Given the description of an element on the screen output the (x, y) to click on. 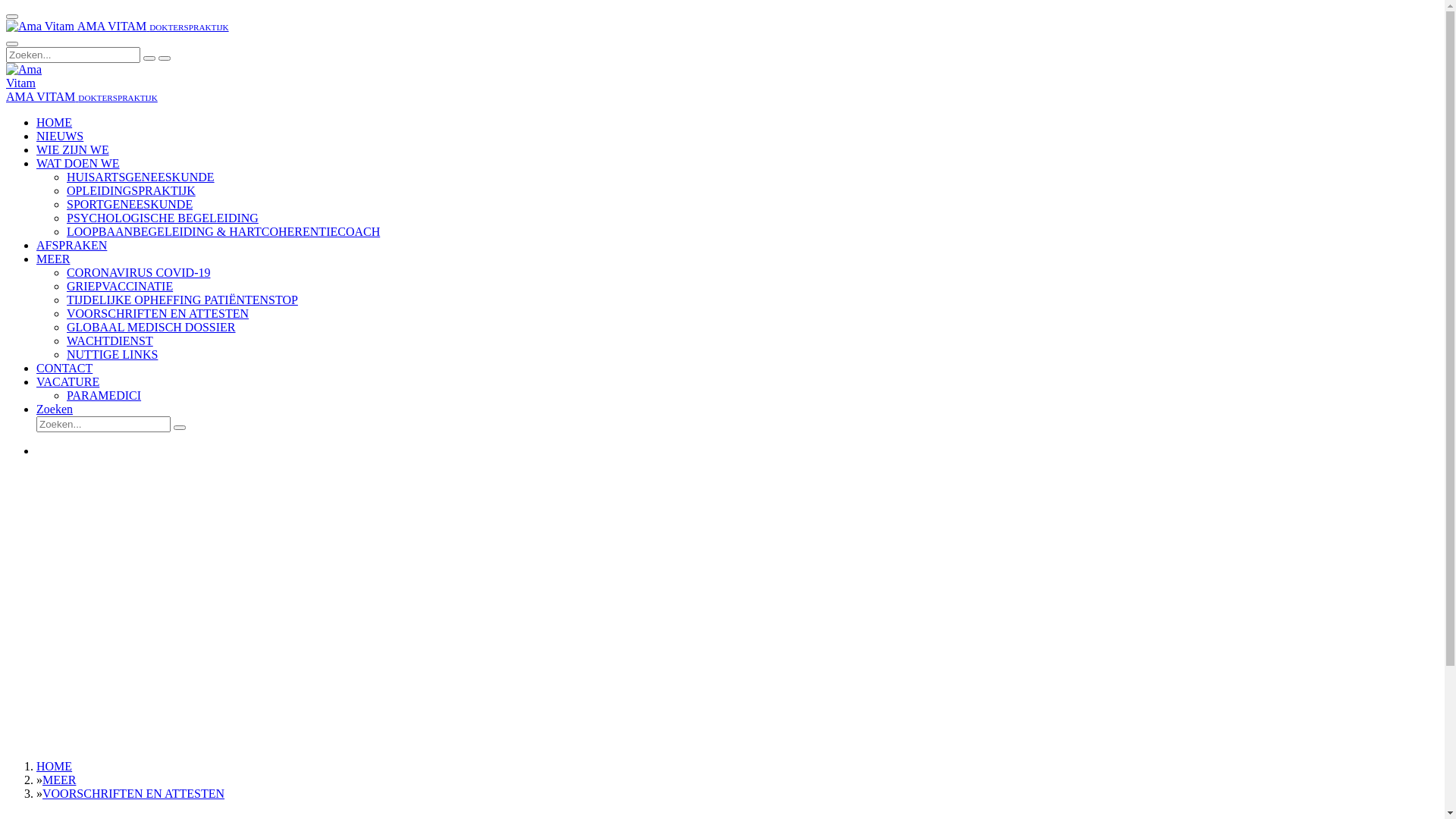
WACHTDIENST Element type: text (109, 340)
AFSPRAKEN Element type: text (71, 244)
AMA VITAM DOKTERSPRAKTIJK Element type: text (117, 25)
HUISARTSGENEESKUNDE Element type: text (140, 176)
AMA VITAM DOKTERSPRAKTIJK Element type: text (81, 96)
CONTACT Element type: text (64, 367)
NIEUWS Element type: text (59, 135)
GLOBAAL MEDISCH DOSSIER Element type: text (150, 326)
SPORTGENEESKUNDE Element type: text (129, 203)
PSYCHOLOGISCHE BEGELEIDING Element type: text (162, 217)
Zoeken Element type: text (54, 408)
HOME Element type: text (54, 765)
CORONAVIRUS COVID-19 Element type: text (138, 272)
VACATURE Element type: text (67, 381)
WAT DOEN WE Element type: text (77, 162)
HOME Element type: text (54, 122)
Ama Vitam Element type: hover (32, 76)
OPLEIDINGSPRAKTIJK Element type: text (130, 190)
VOORSCHRIFTEN EN ATTESTEN Element type: text (133, 793)
MEER Element type: text (52, 258)
PARAMEDICI Element type: text (103, 395)
GRIEPVACCINATIE Element type: text (119, 285)
Ama Vitam Element type: hover (40, 26)
VOORSCHRIFTEN EN ATTESTEN Element type: text (157, 313)
WIE ZIJN WE Element type: text (72, 149)
NUTTIGE LINKS Element type: text (111, 354)
MEER Element type: text (58, 779)
LOOPBAANBEGELEIDING & HARTCOHERENTIECOACH Element type: text (222, 231)
